Given the description of an element on the screen output the (x, y) to click on. 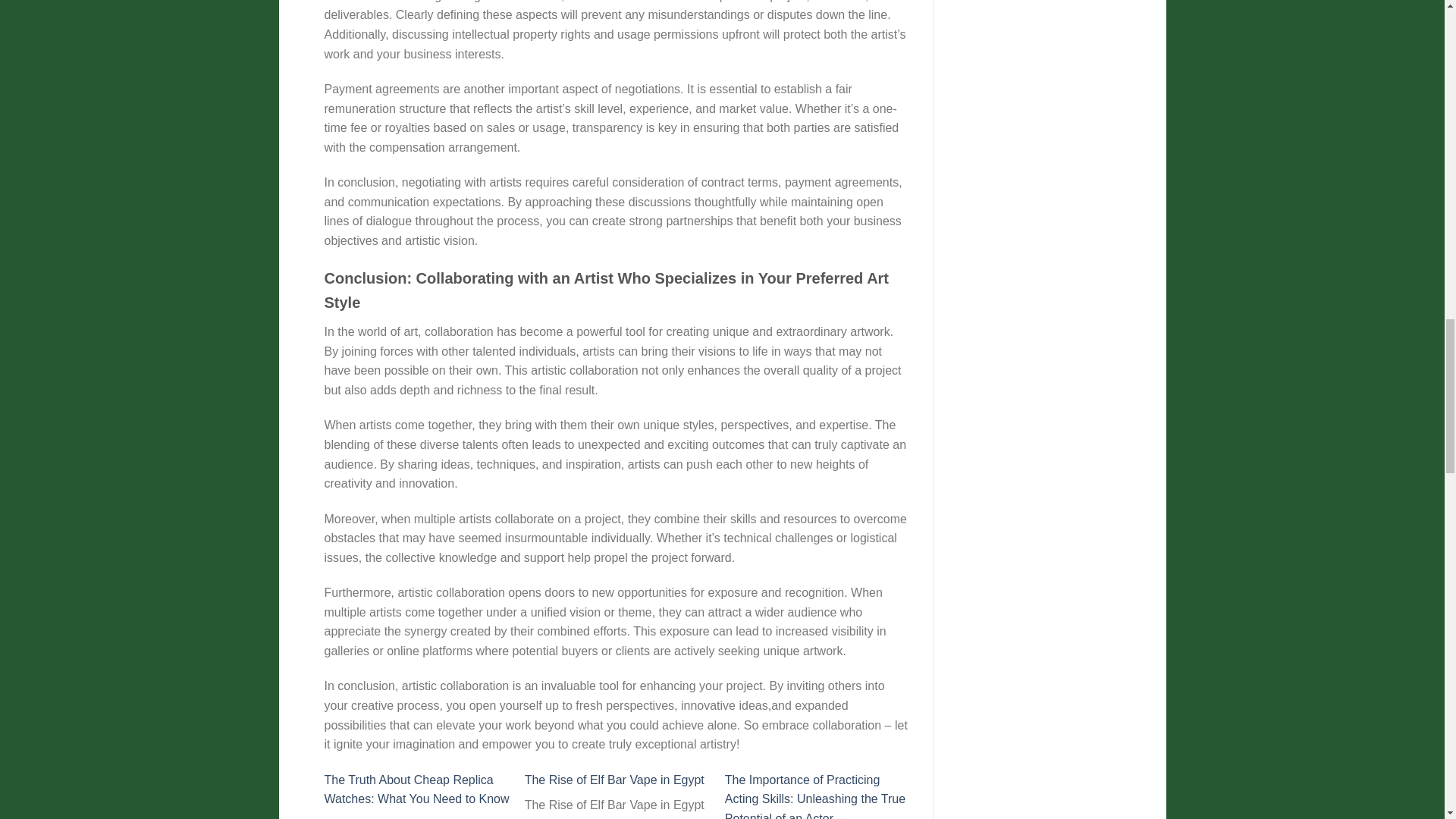
The Rise of Elf Bar Vape in Egypt (614, 779)
The Truth About Cheap Replica Watches: What You Need to Know (416, 789)
